Given the description of an element on the screen output the (x, y) to click on. 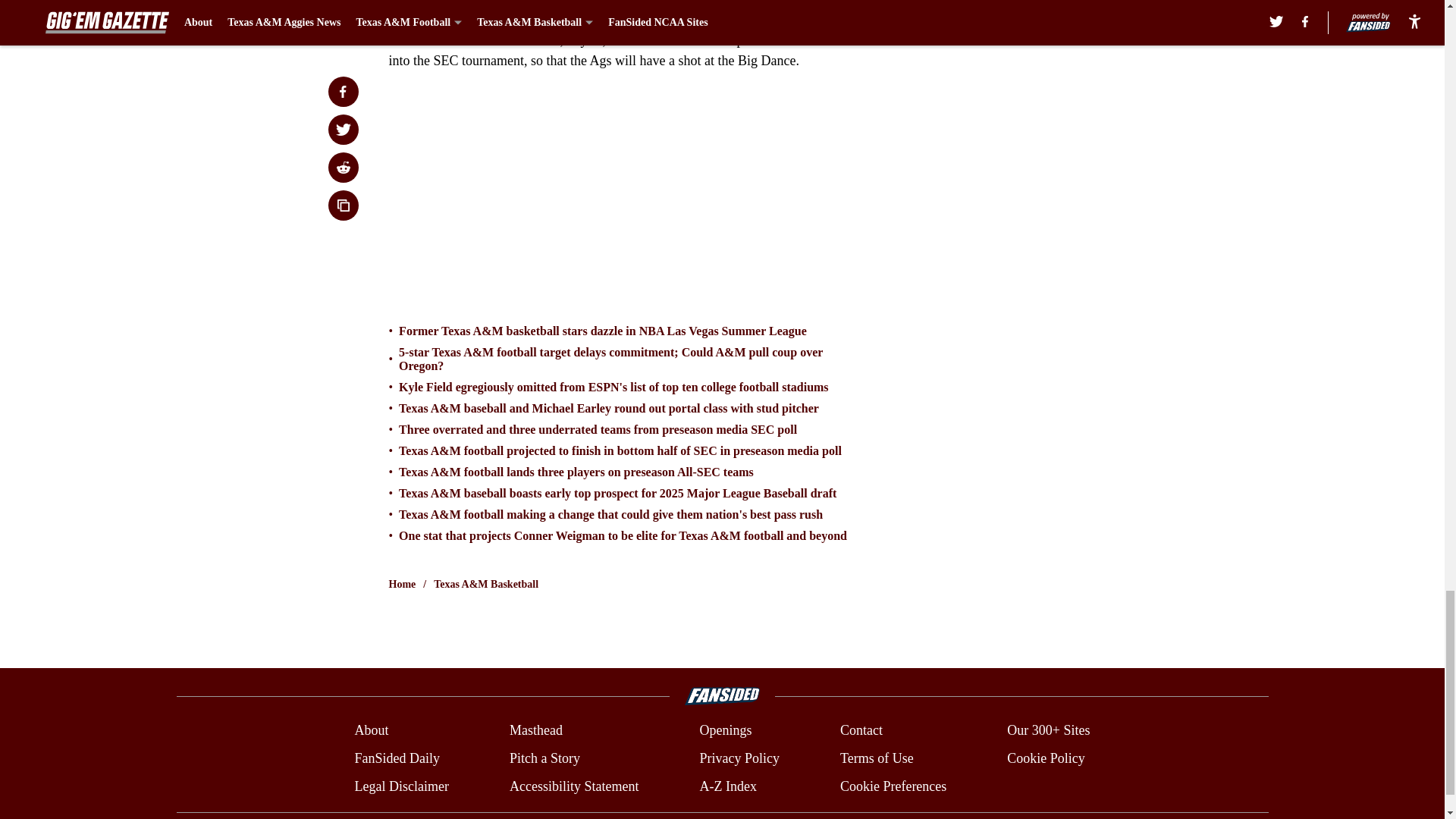
Home (401, 584)
Openings (724, 730)
About (370, 730)
Masthead (535, 730)
